Given the description of an element on the screen output the (x, y) to click on. 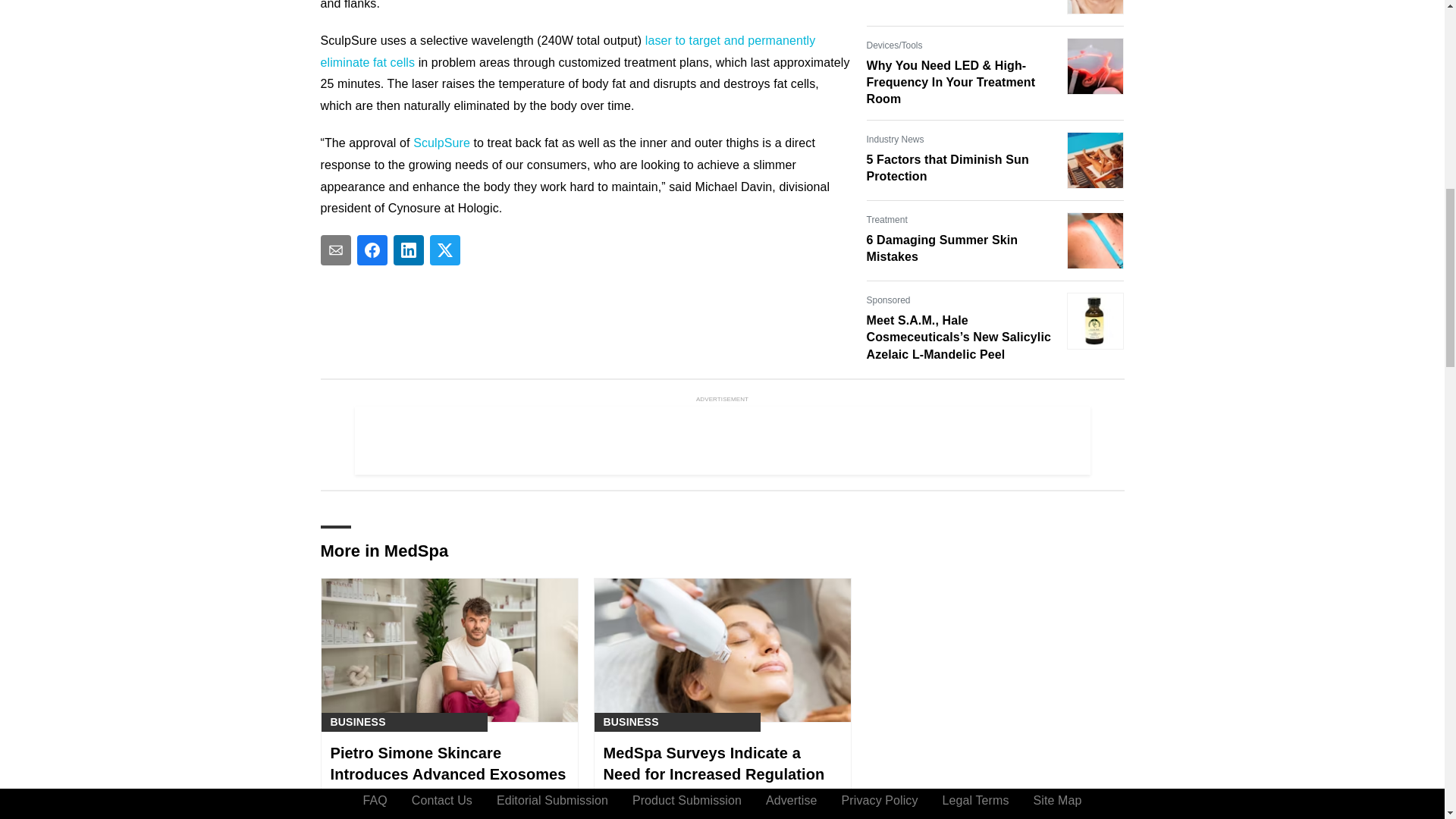
Share To linkedin (408, 250)
Share To twitter (444, 250)
Share To email (335, 250)
Share To facebook (371, 250)
